Given the description of an element on the screen output the (x, y) to click on. 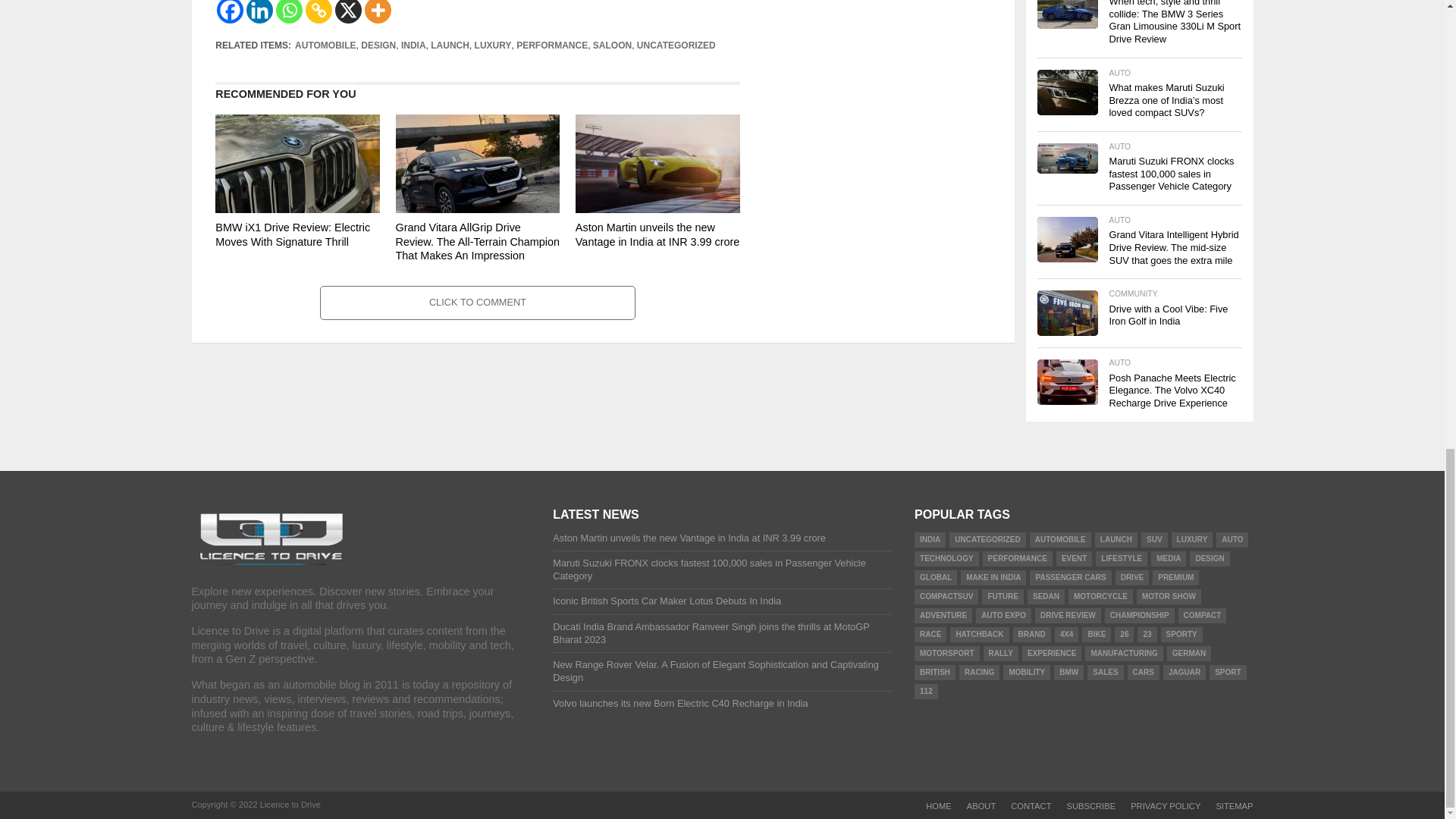
X (347, 11)
Copy Link (318, 11)
Whatsapp (289, 11)
BMW iX1 Drive Review: Electric Moves With Signature Thrill (297, 208)
Linkedin (259, 11)
More (378, 11)
Facebook (229, 11)
